Given the description of an element on the screen output the (x, y) to click on. 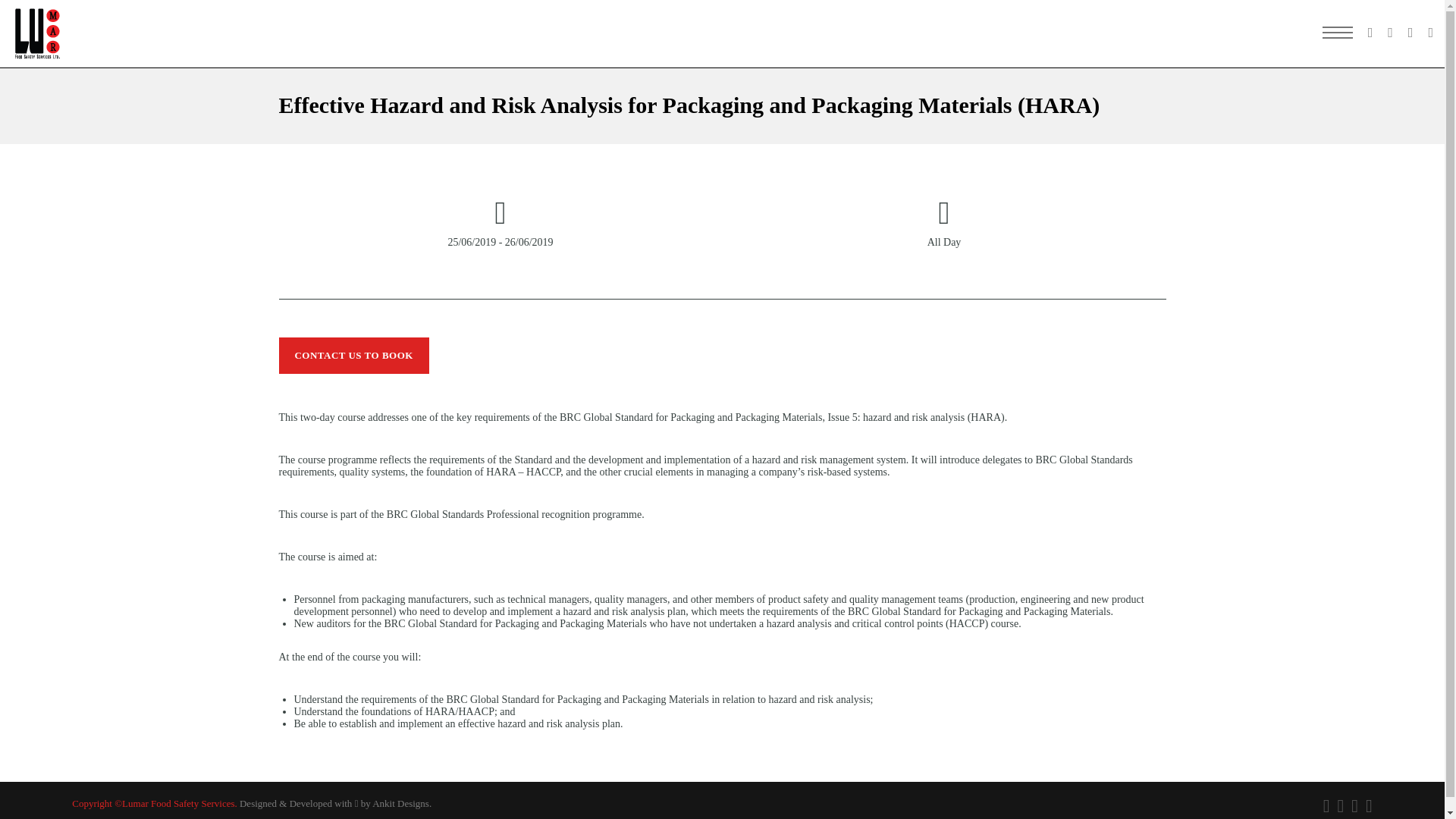
Lumar Food Safety Services (37, 33)
